Given the description of an element on the screen output the (x, y) to click on. 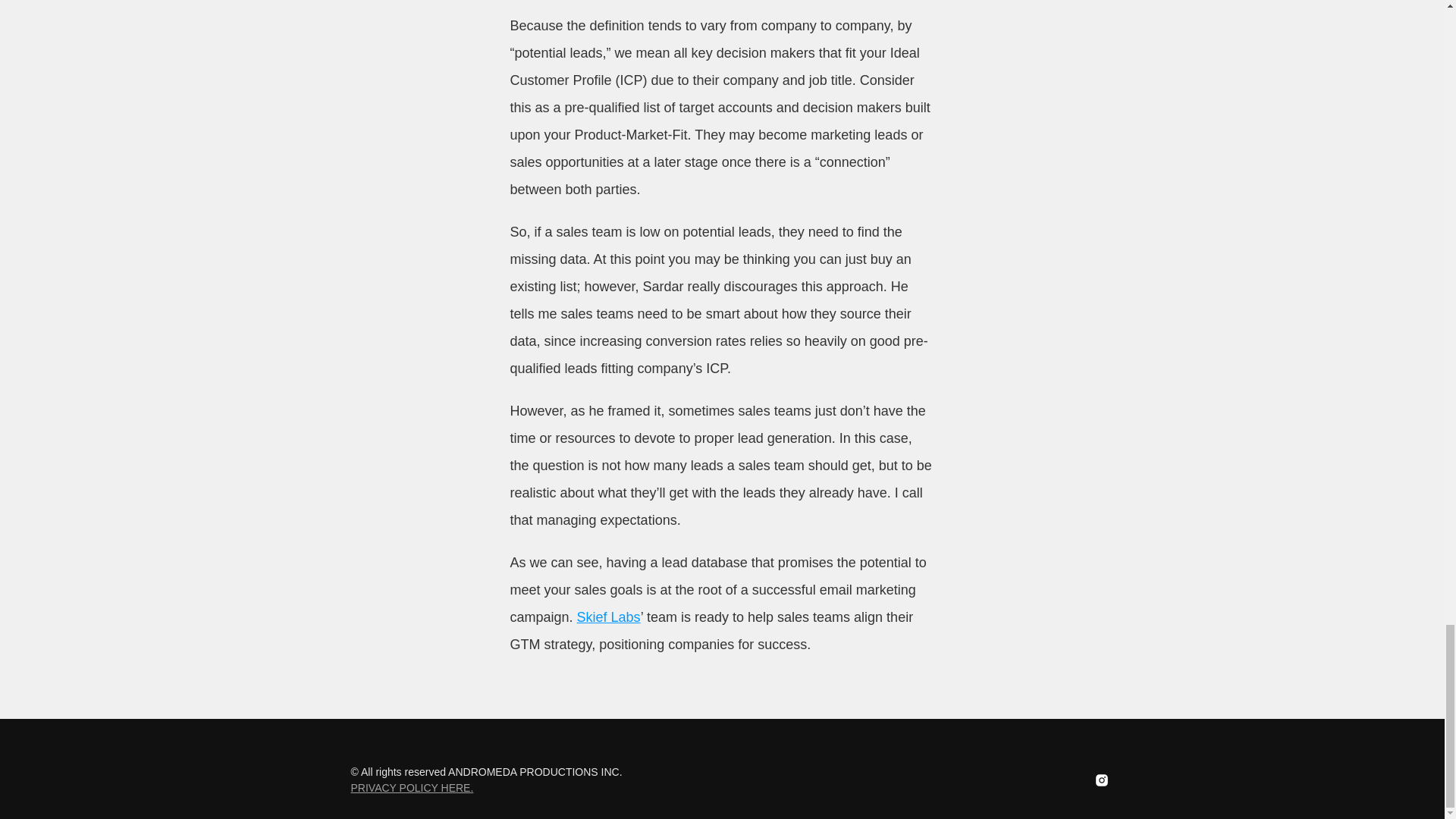
PRIVACY POLICY HERE. (411, 787)
Skief Labs (608, 616)
